Given the description of an element on the screen output the (x, y) to click on. 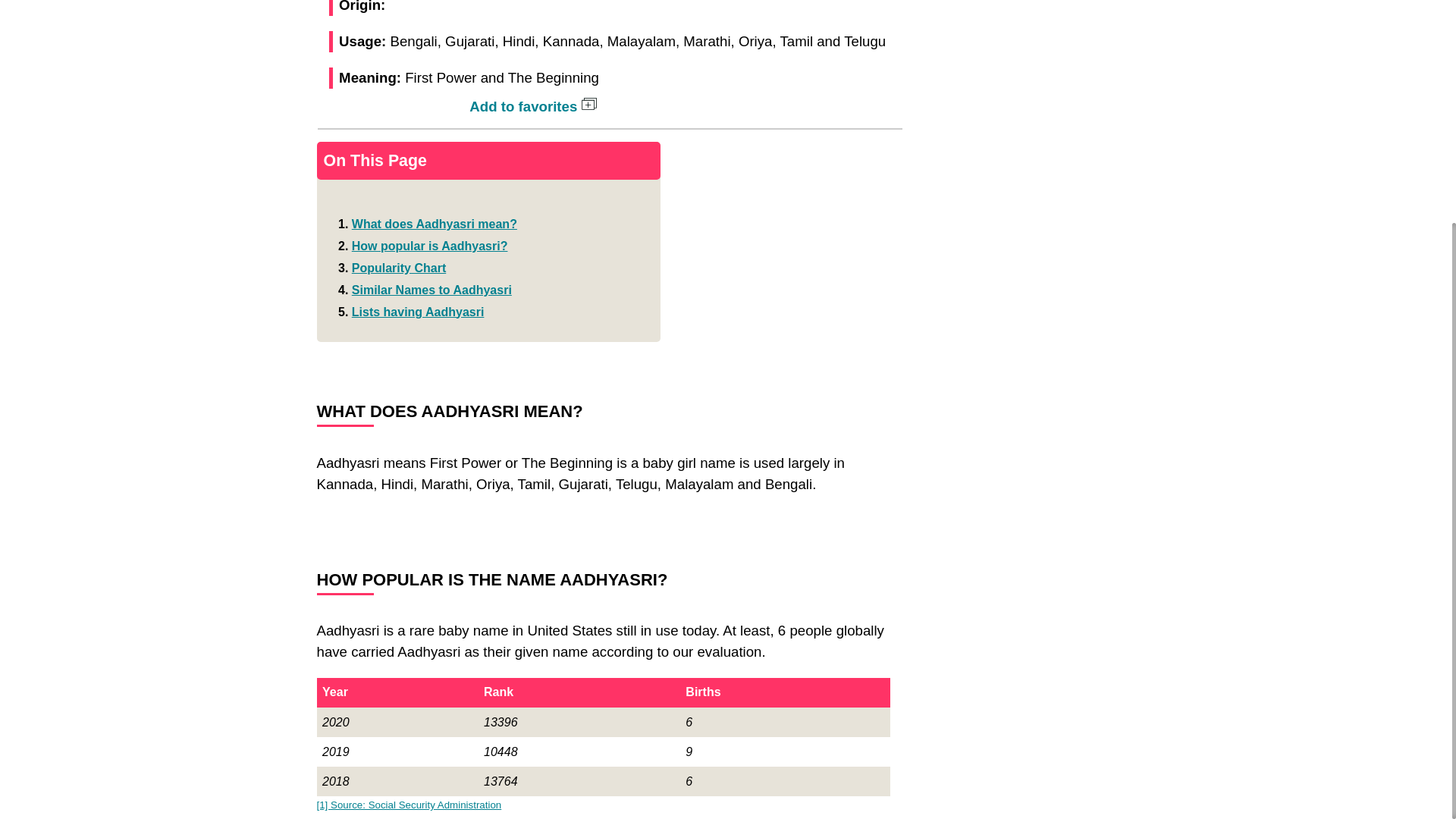
Similar Names to Aadhyasri (432, 289)
Lists having Aadhyasri (418, 311)
What does Aadhyasri mean? (434, 223)
How popular is Aadhyasri? (430, 245)
Popularity Chart (398, 267)
